Given the description of an element on the screen output the (x, y) to click on. 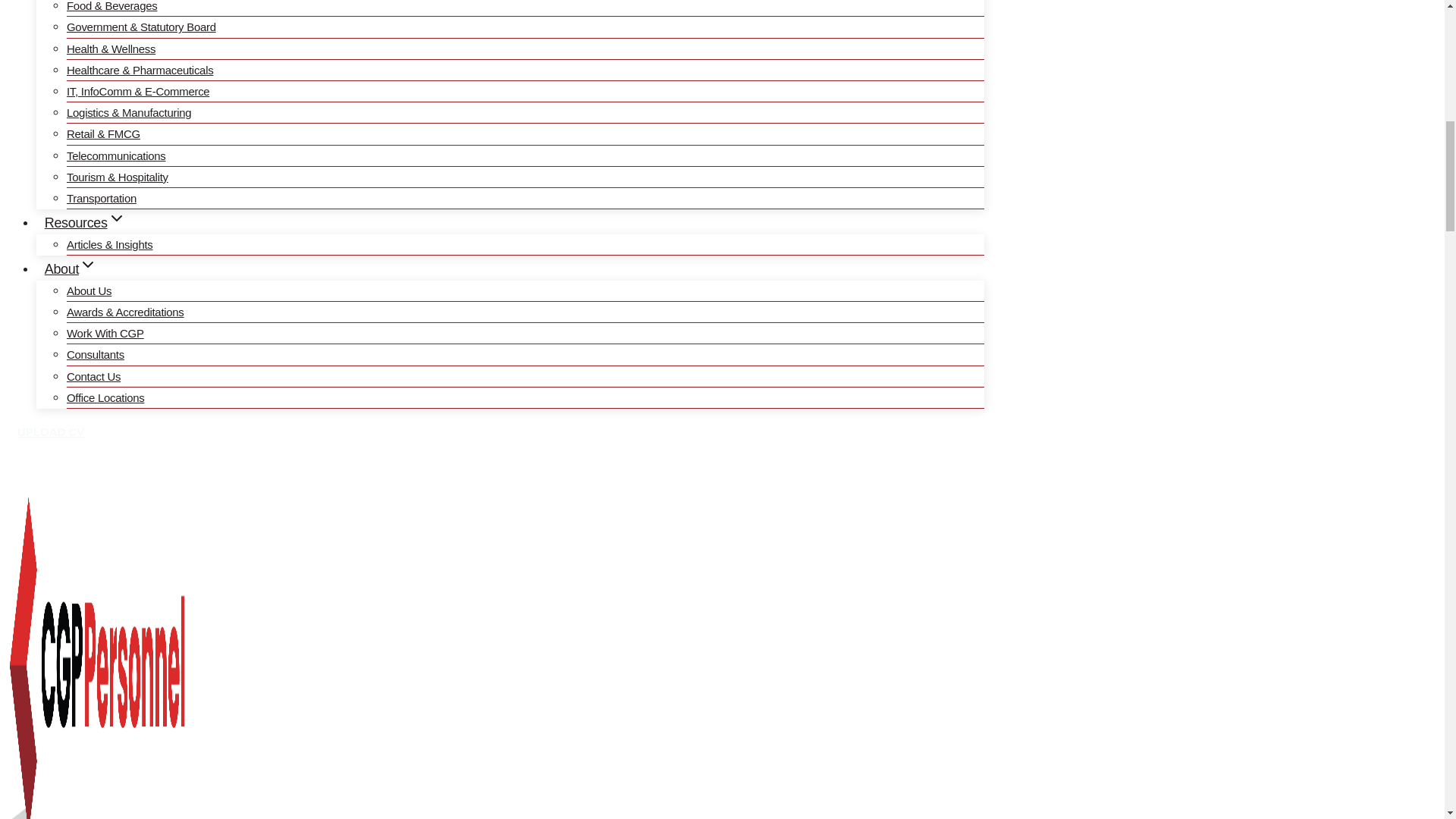
Work With CGP (105, 333)
AboutExpand (70, 269)
Education (90, 1)
UPLOAD CV (50, 431)
Contact Us (93, 375)
ResourcesExpand (84, 223)
Office Locations (105, 397)
Consultants (94, 354)
Transportation (101, 198)
Telecommunications (115, 155)
